Given the description of an element on the screen output the (x, y) to click on. 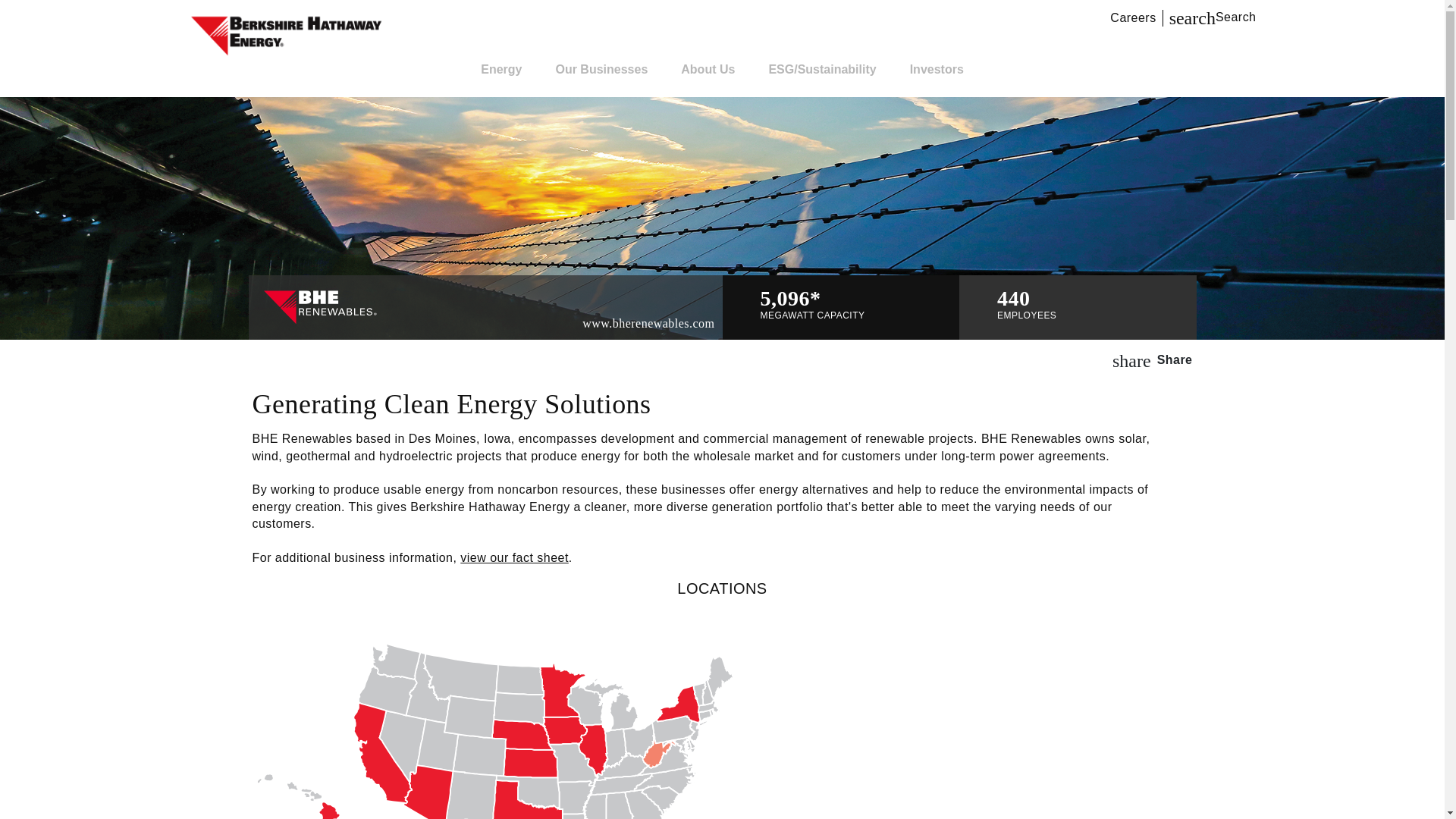
Our Businesses (601, 69)
About Us (708, 69)
Careers (1135, 17)
Energy (1212, 18)
